Given the description of an element on the screen output the (x, y) to click on. 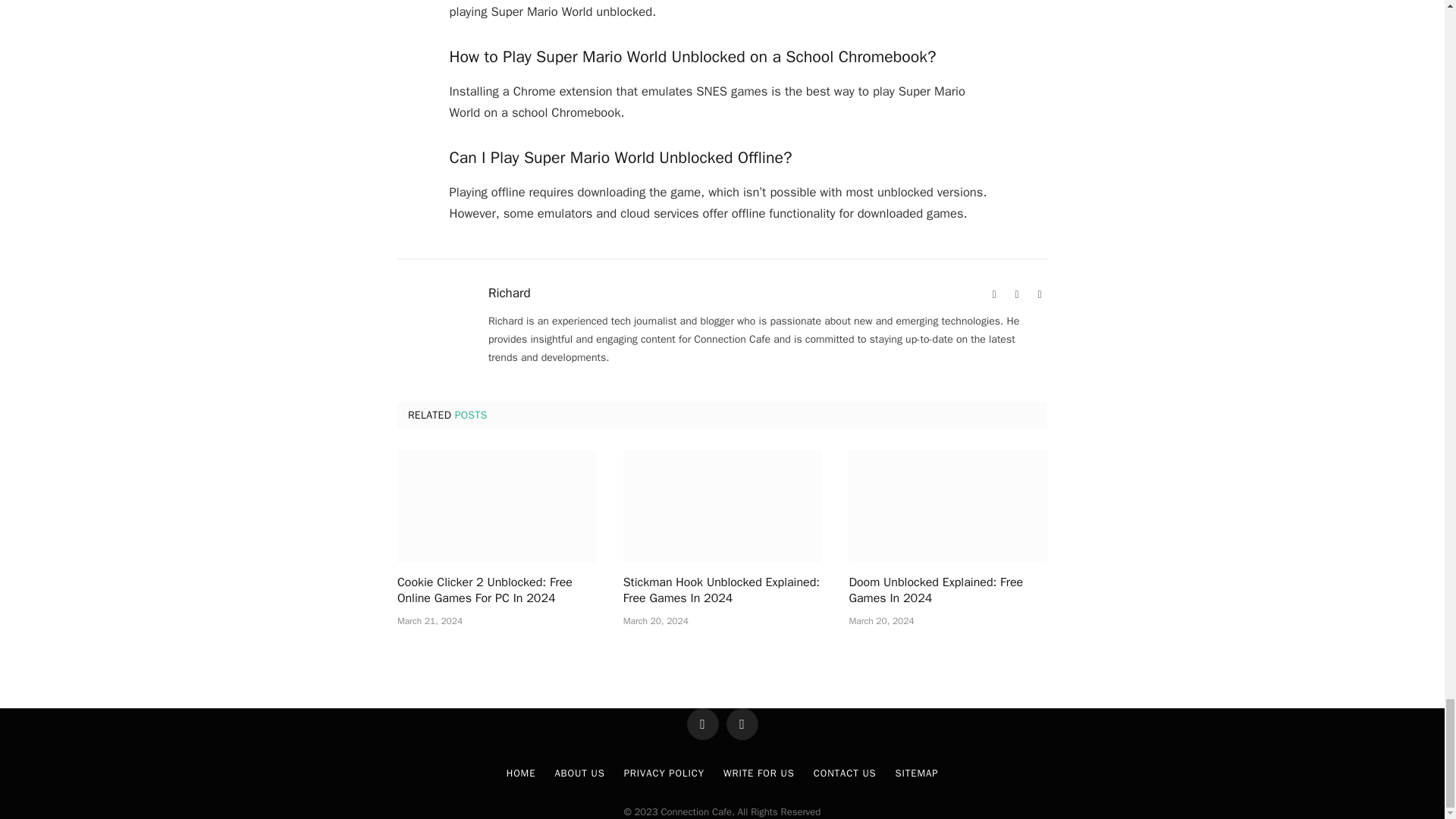
Posts by Richard (509, 293)
Twitter (1039, 294)
Doom Unblocked Explained: Free Games In 2024 (947, 505)
Cookie Clicker 2 Unblocked: Free Online Games For PC In 2024 (496, 505)
Website (994, 294)
Stickman Hook Unblocked Explained: Free Games In 2024 (722, 505)
Facebook (1017, 294)
